Given the description of an element on the screen output the (x, y) to click on. 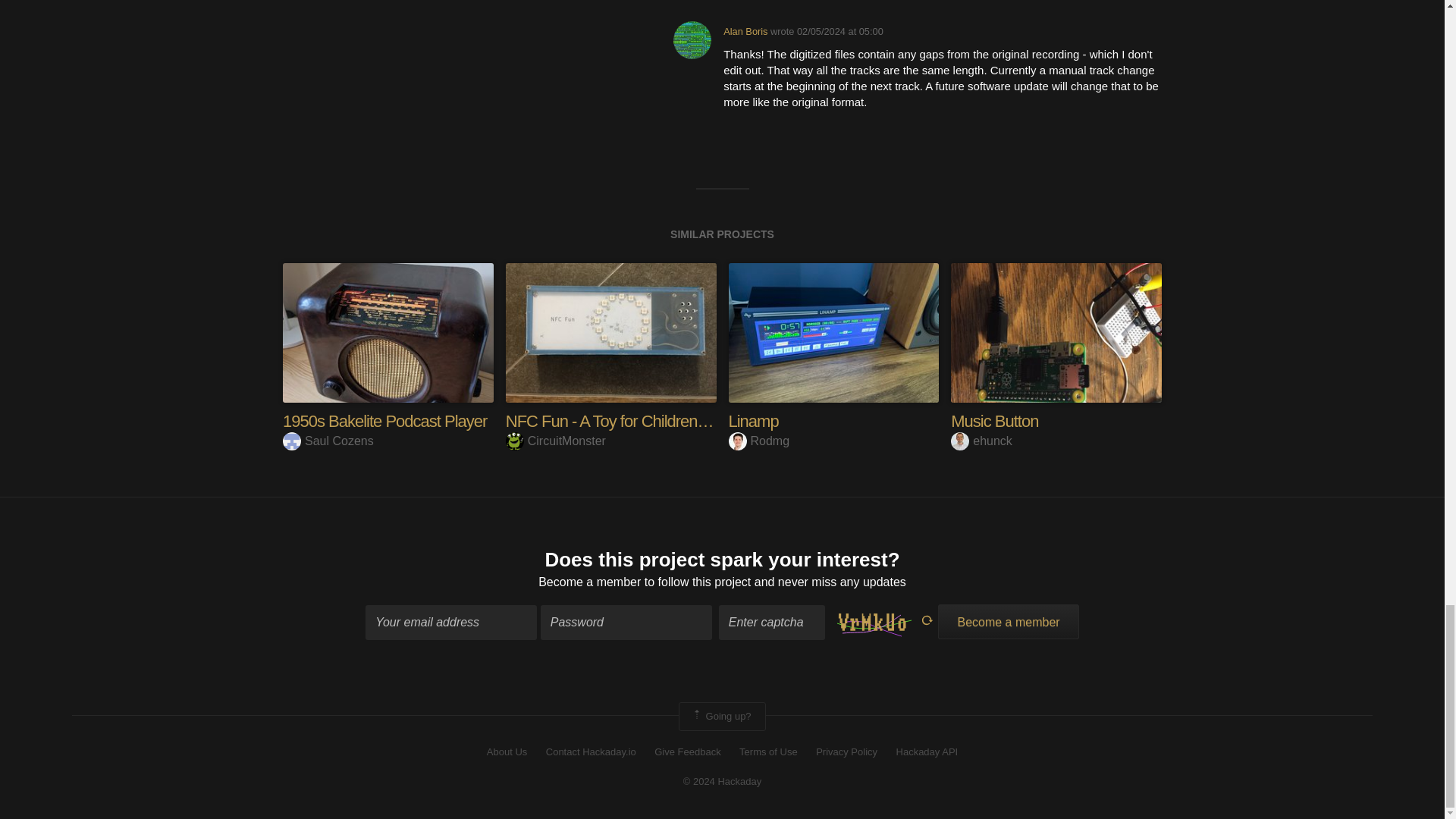
6 months ago (839, 30)
1950s Bakelite Podcast Player by Saul Cozens (387, 332)
NFC Fun - A Toy for Children with Sensory Needs (670, 420)
Linamp by Rodmg (833, 332)
1950s Bakelite Podcast Player (384, 420)
